Given the description of an element on the screen output the (x, y) to click on. 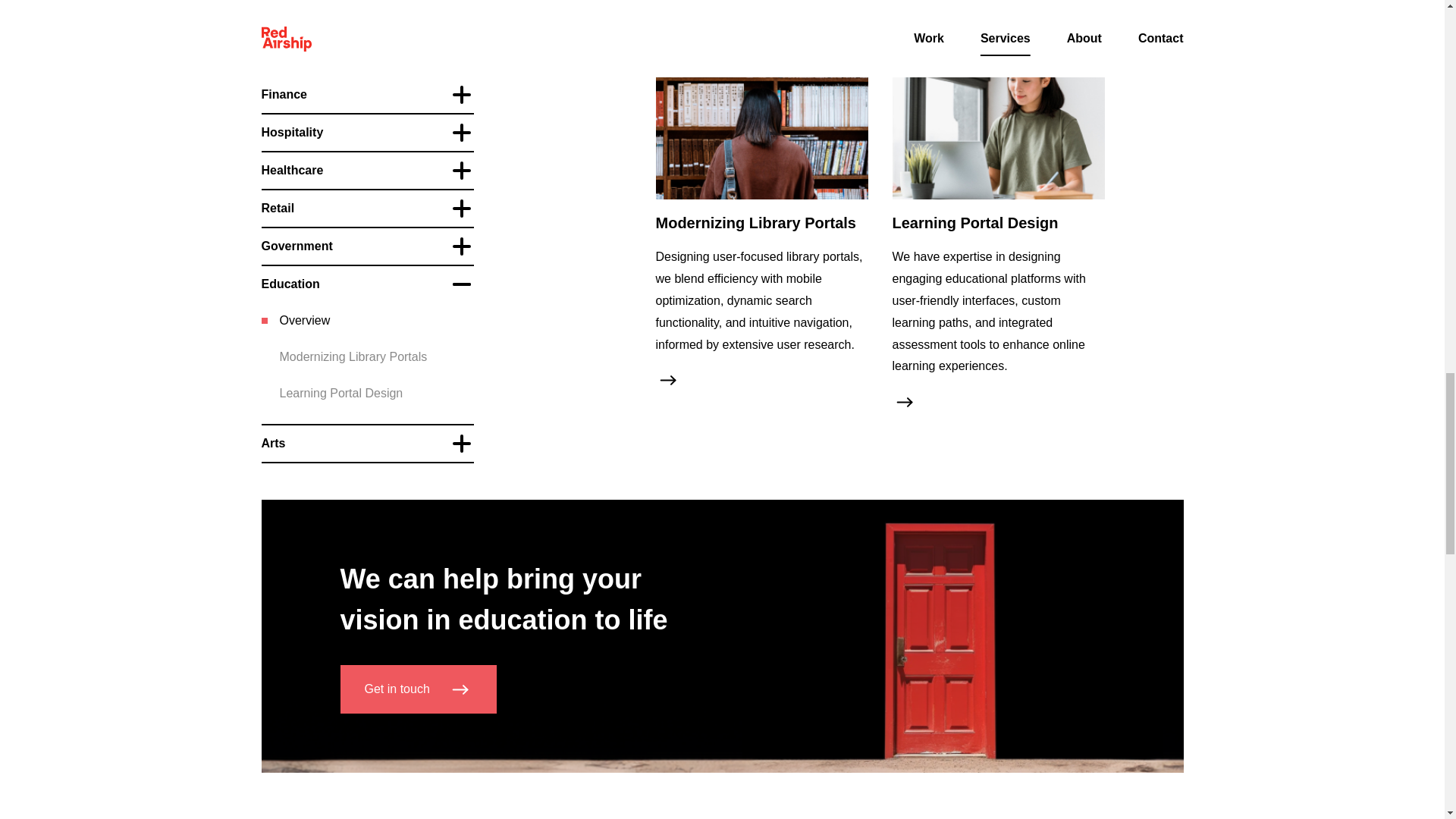
Get in touch (417, 689)
